Given the description of an element on the screen output the (x, y) to click on. 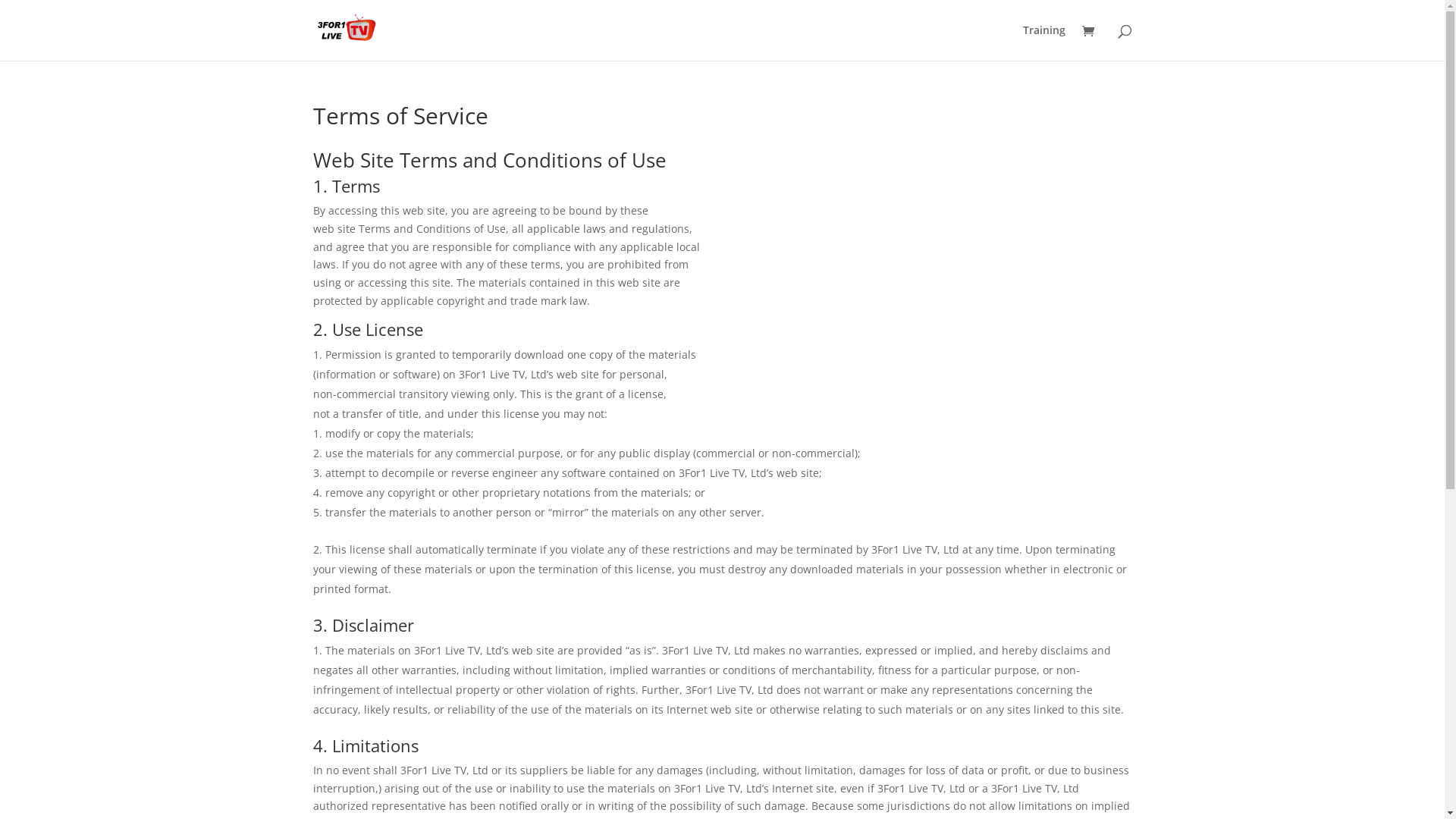
Training Element type: text (1043, 42)
